Given the description of an element on the screen output the (x, y) to click on. 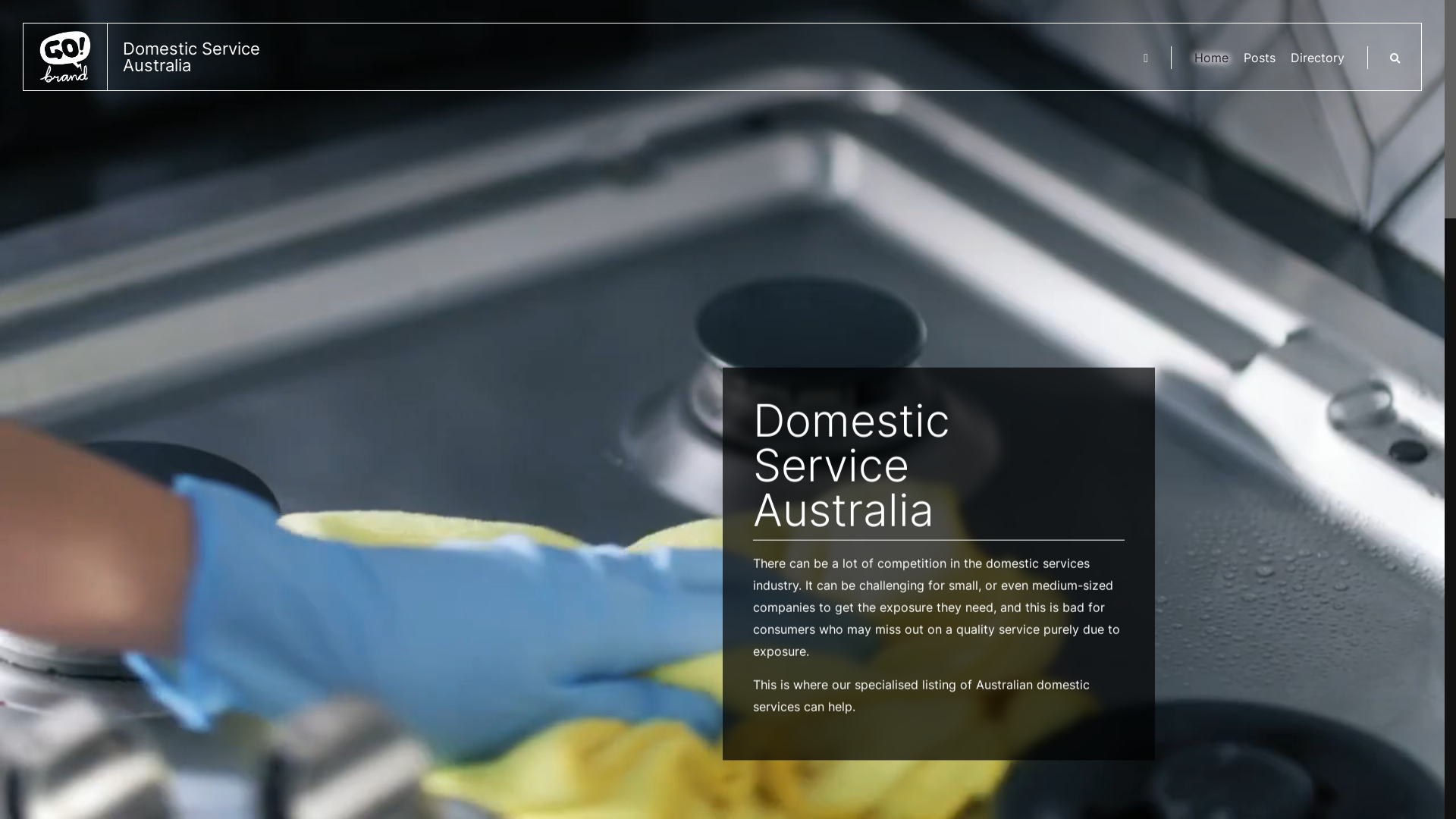
Directory Element type: text (1317, 57)
Posts Element type: text (1259, 57)
Domestic Service Australia Element type: text (159, 56)
Home Element type: text (1211, 57)
